Given the description of an element on the screen output the (x, y) to click on. 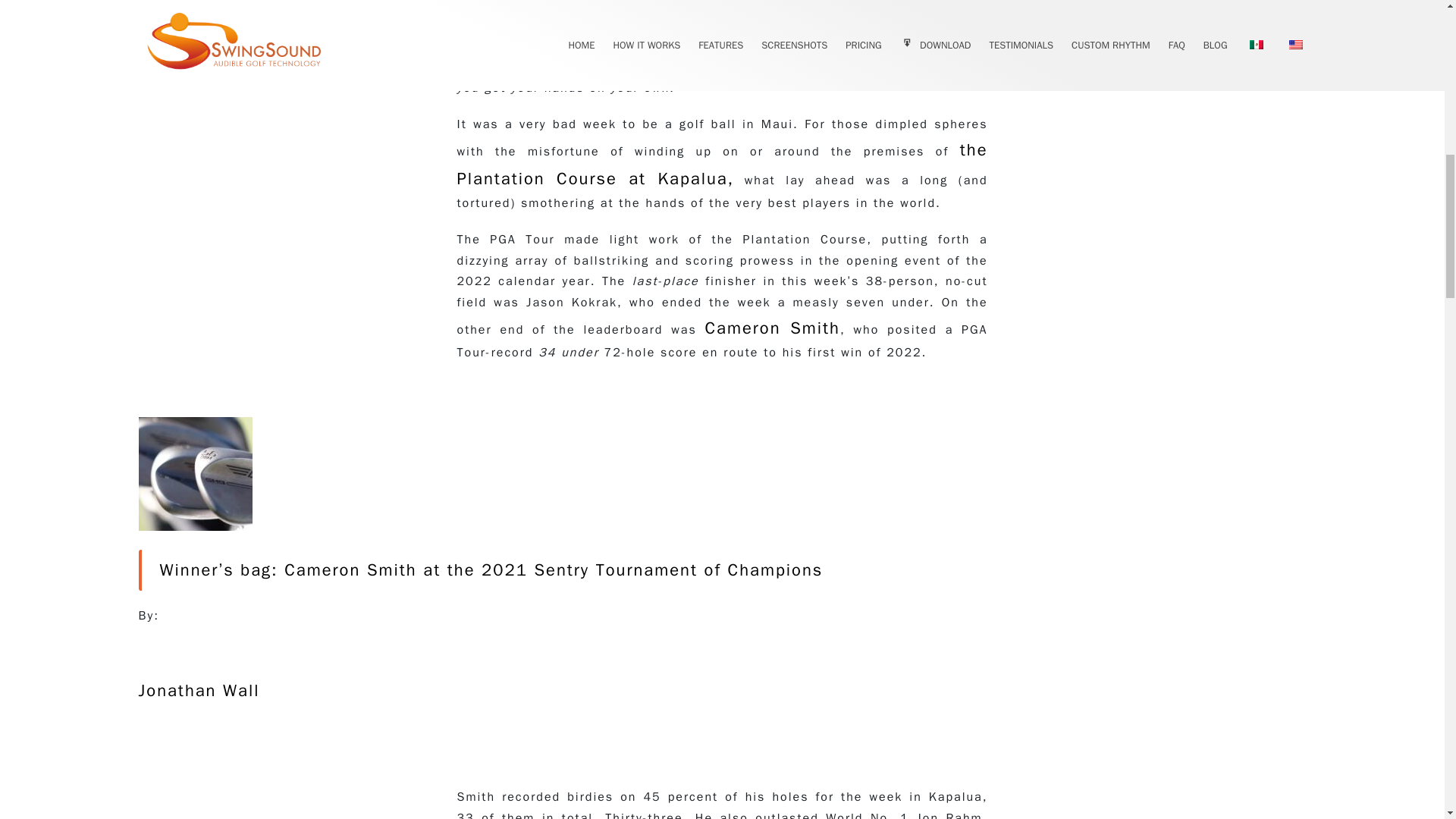
Jonathan Wall (198, 705)
the Plantation Course at Kapalua, (722, 164)
Cameron Smith (772, 328)
